Given the description of an element on the screen output the (x, y) to click on. 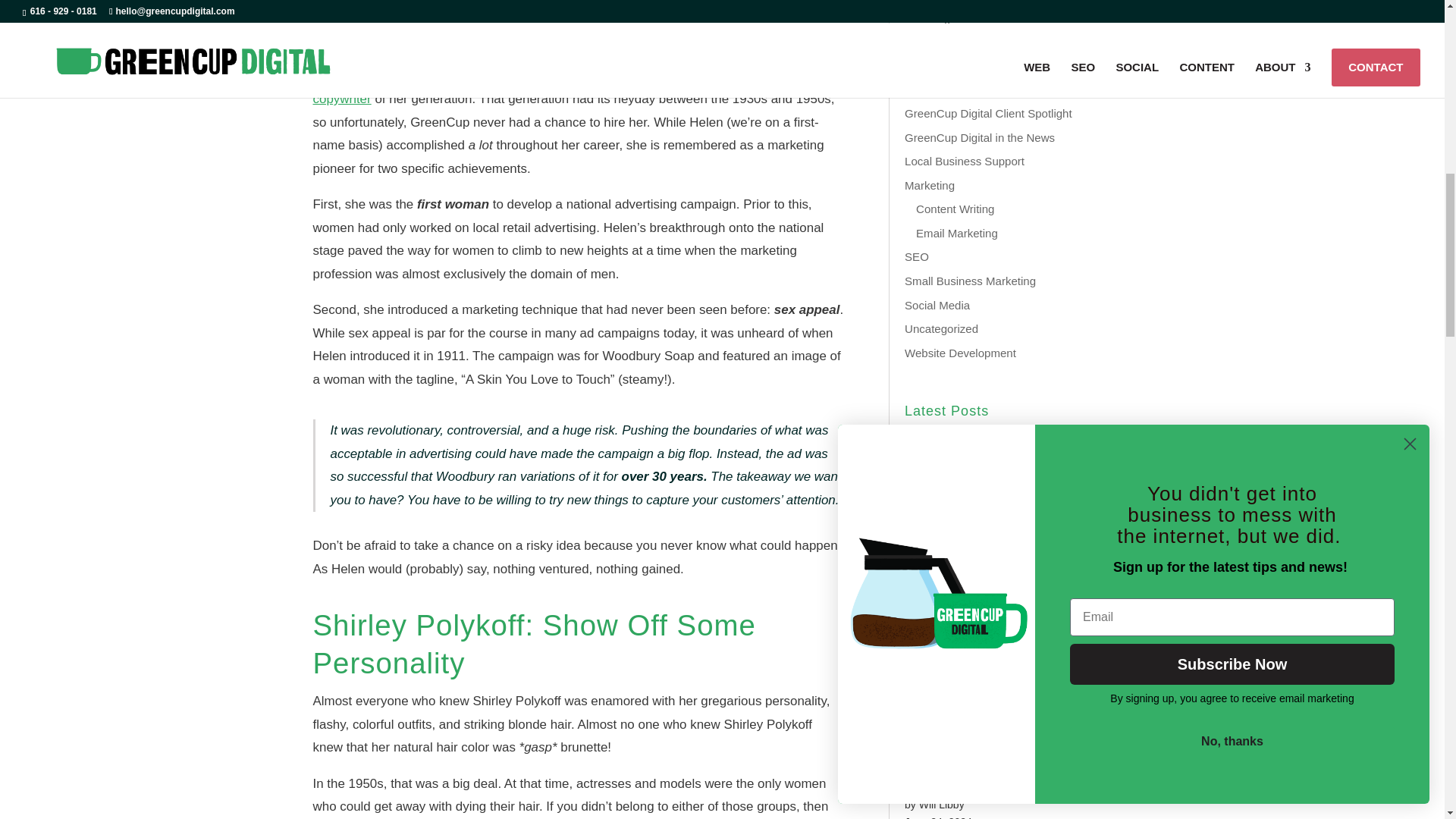
copywriter (342, 98)
COVID (933, 65)
Business Tips (939, 41)
Branding (927, 17)
